Given the description of an element on the screen output the (x, y) to click on. 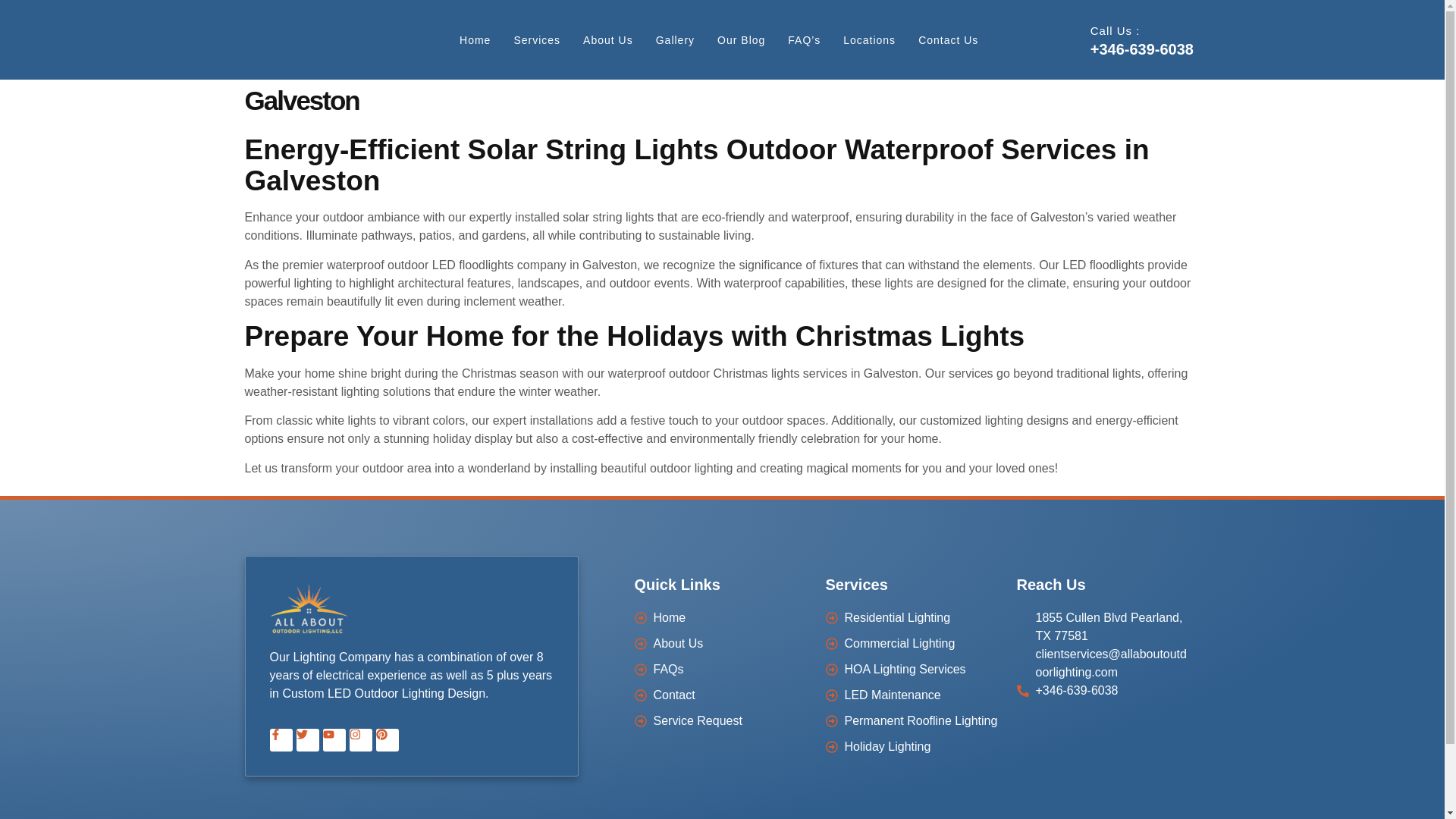
Gallery (675, 39)
About Us (608, 39)
Contact Us (948, 39)
Services (536, 39)
Locations (869, 39)
Our Blog (741, 39)
Home (475, 39)
